Given the description of an element on the screen output the (x, y) to click on. 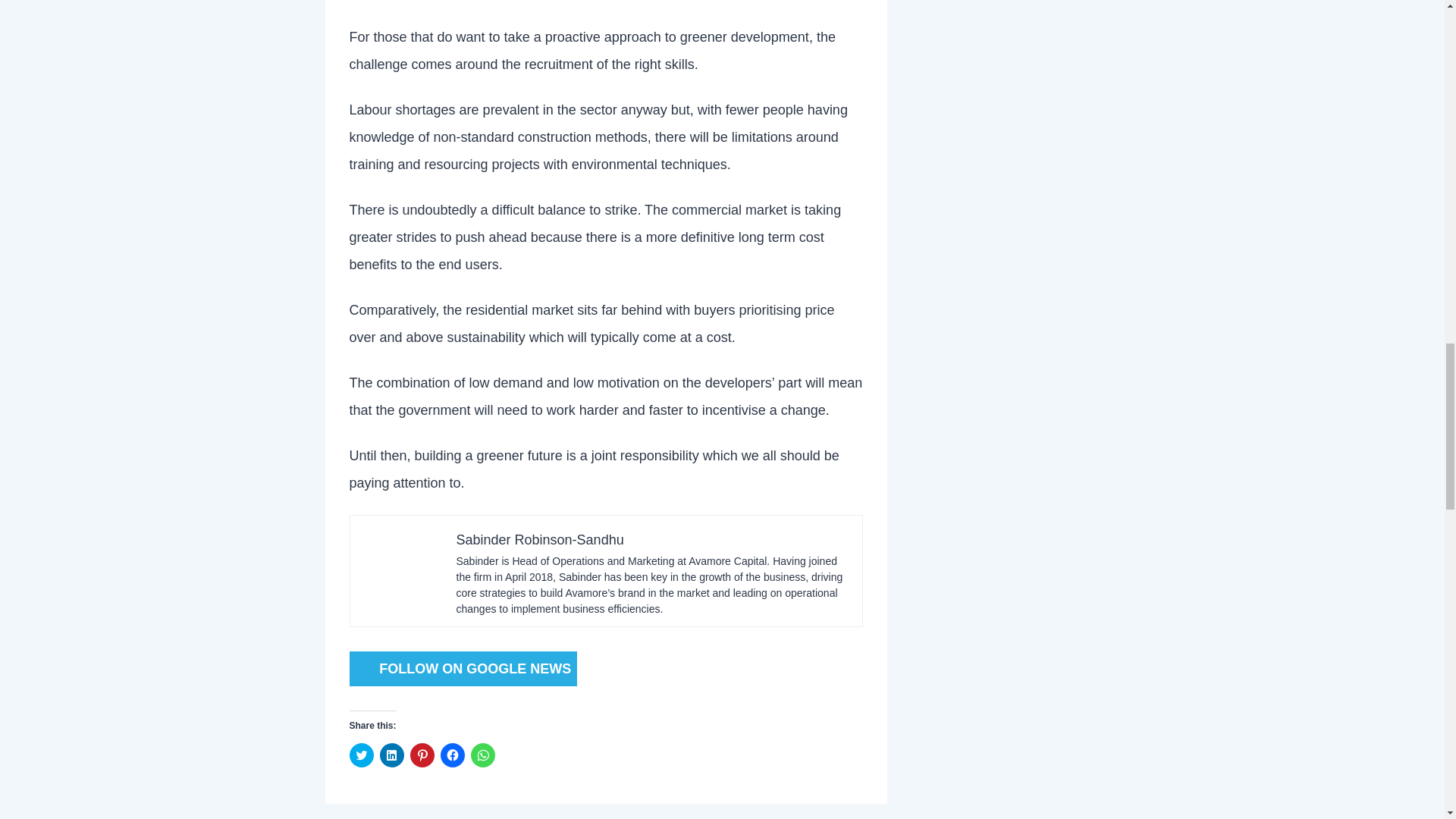
Click to share on Facebook (451, 754)
Click to share on WhatsApp (482, 754)
Click to share on LinkedIn (390, 754)
Click to share on Twitter (360, 754)
Click to share on Pinterest (421, 754)
